Given the description of an element on the screen output the (x, y) to click on. 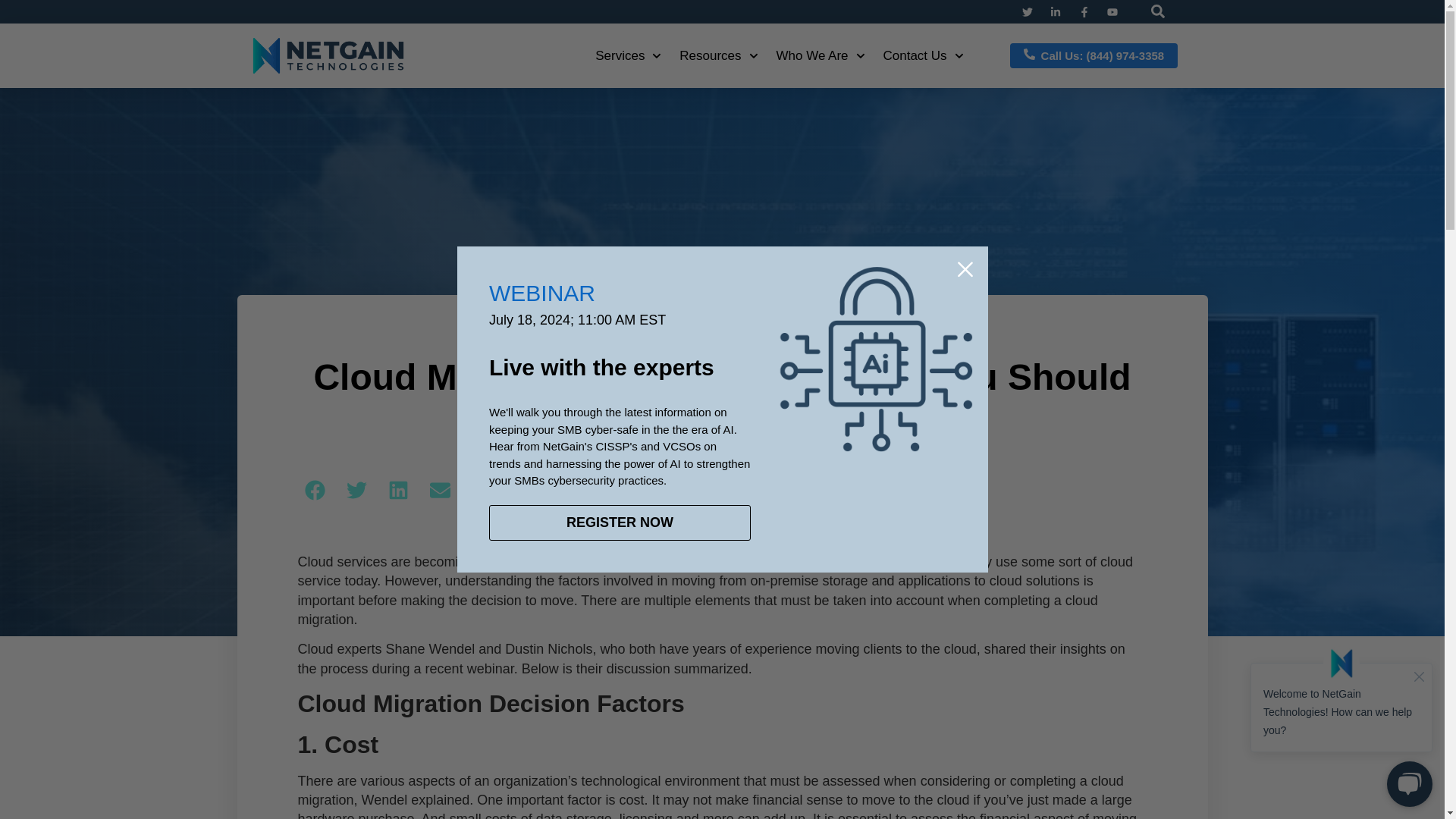
Who We Are (820, 54)
Resources (718, 54)
Services (628, 54)
Contact Us (922, 54)
